Given the description of an element on the screen output the (x, y) to click on. 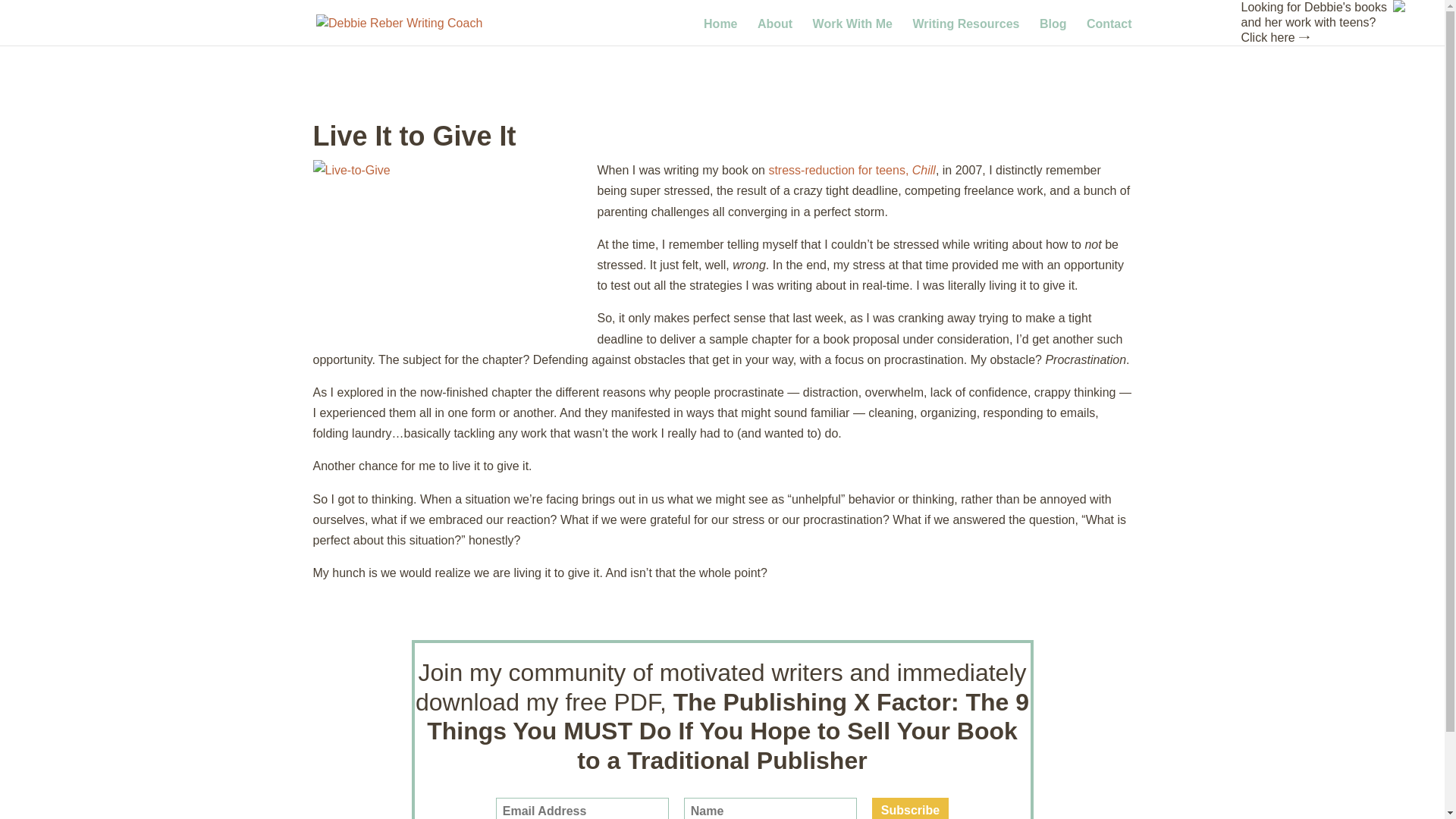
Subscribe (910, 808)
Contact (1109, 29)
Subscribe (910, 808)
Writing Resources (965, 29)
Home (719, 29)
Work With Me (852, 29)
About (774, 29)
stress-reduction for teens, Chill (852, 169)
